Given the description of an element on the screen output the (x, y) to click on. 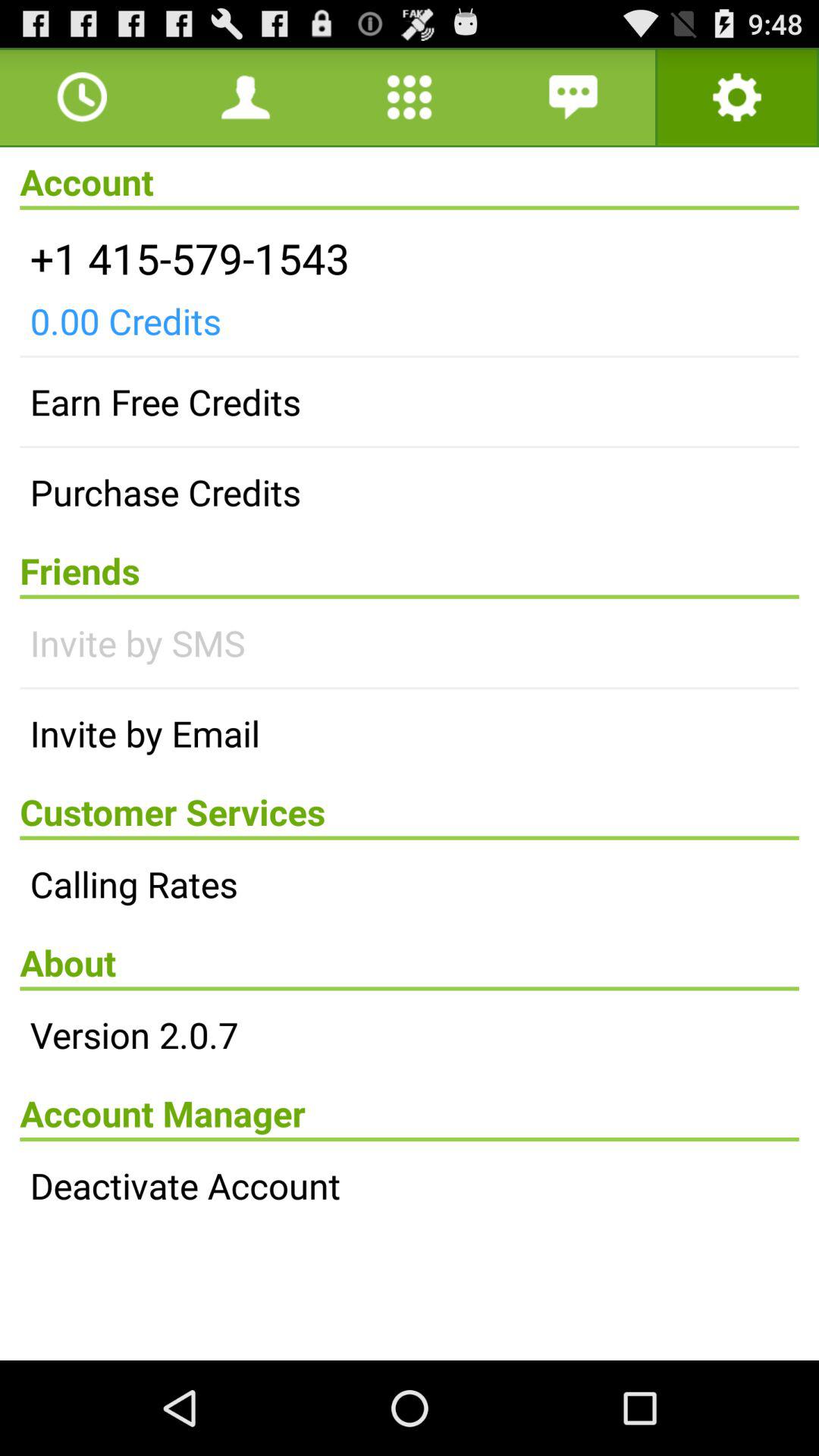
click the purchase credits icon (409, 492)
